Given the description of an element on the screen output the (x, y) to click on. 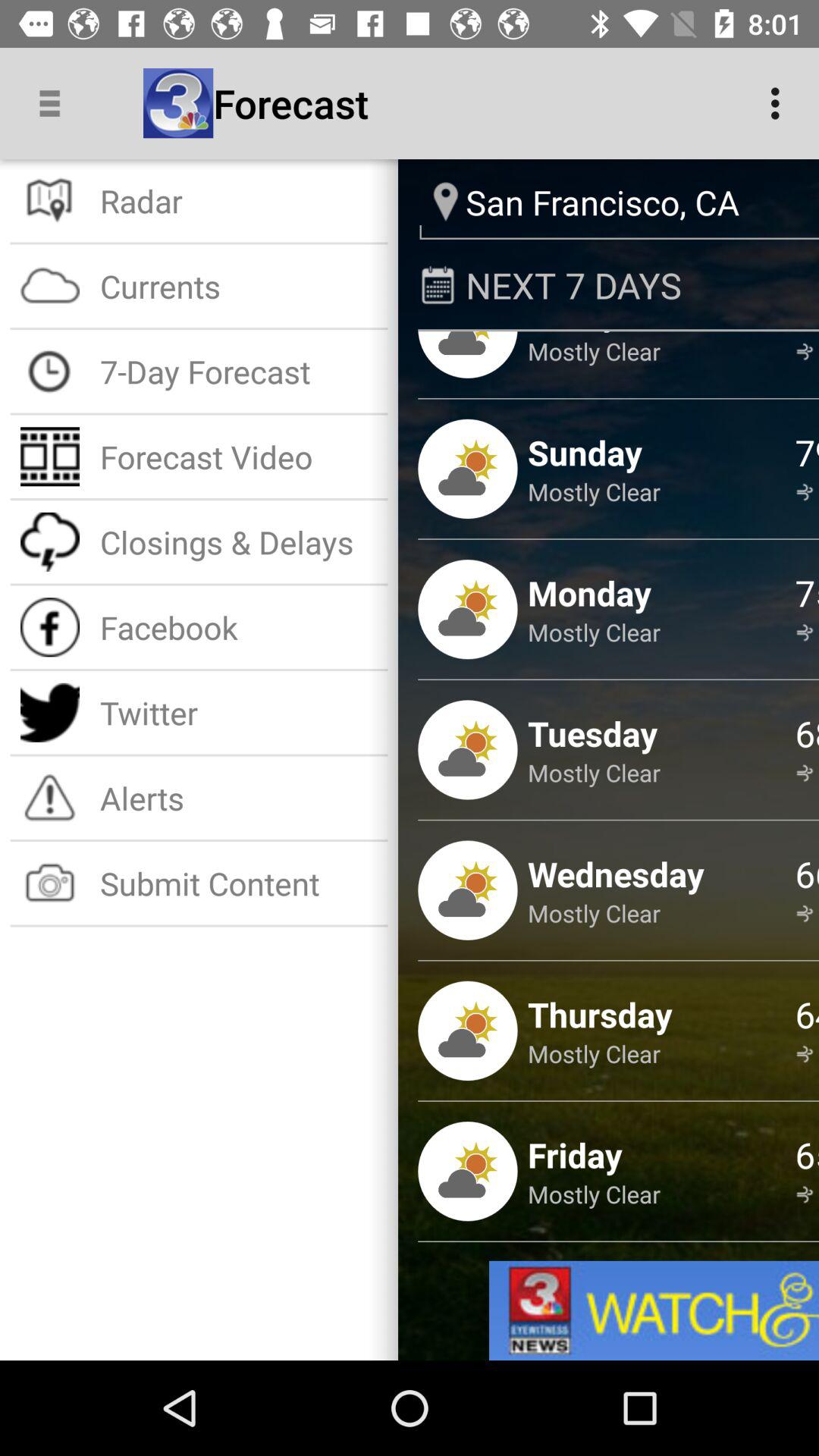
click currents (238, 285)
